Given the description of an element on the screen output the (x, y) to click on. 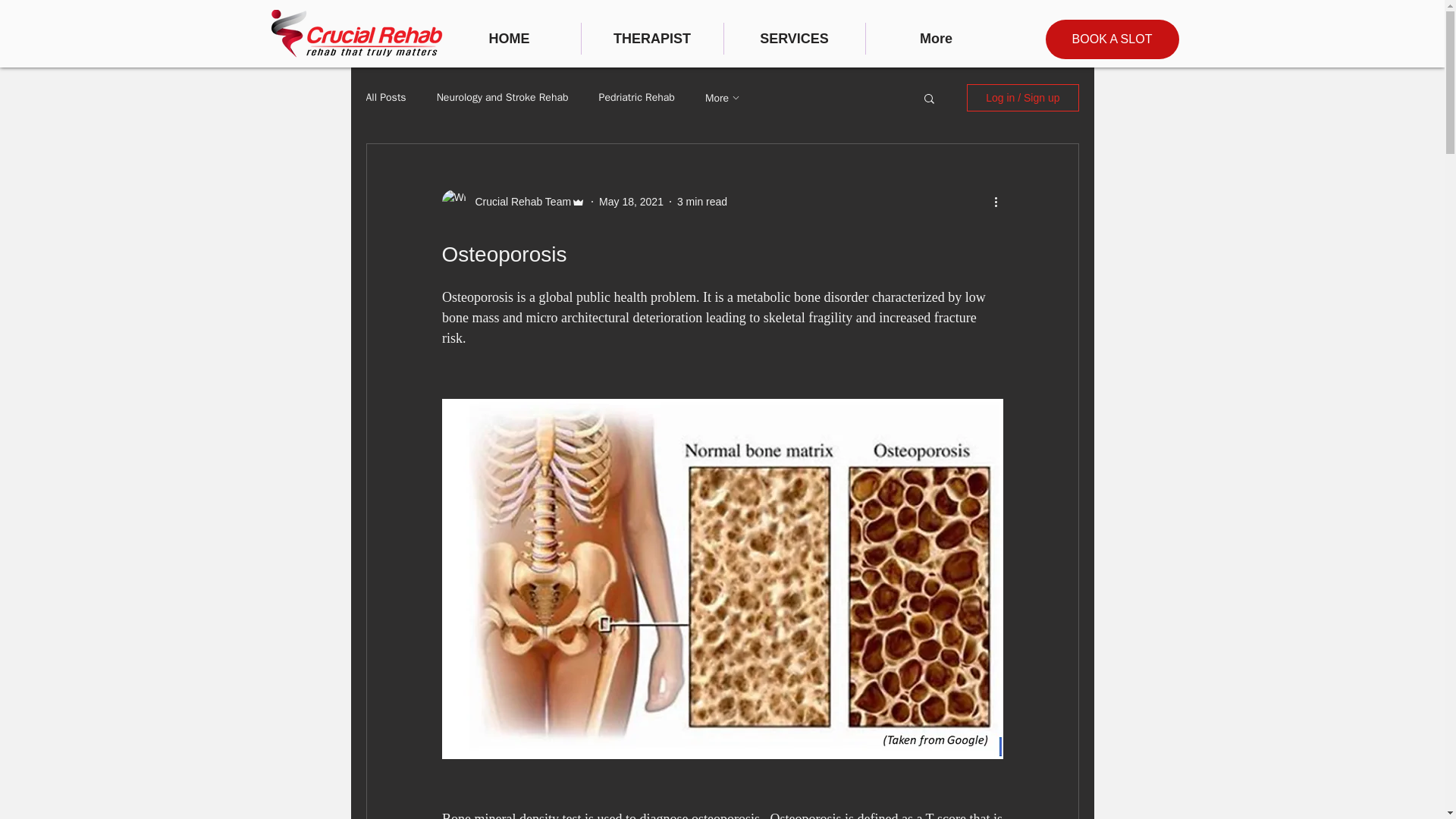
HOME (509, 38)
May 18, 2021 (630, 201)
THERAPIST (651, 38)
Neurology and Stroke Rehab (502, 97)
SERVICES (793, 38)
Pedriatric Rehab (636, 97)
3 min read (701, 201)
Crucial Rehab Team (517, 201)
BOOK A SLOT (1111, 38)
All Posts (385, 97)
